Given the description of an element on the screen output the (x, y) to click on. 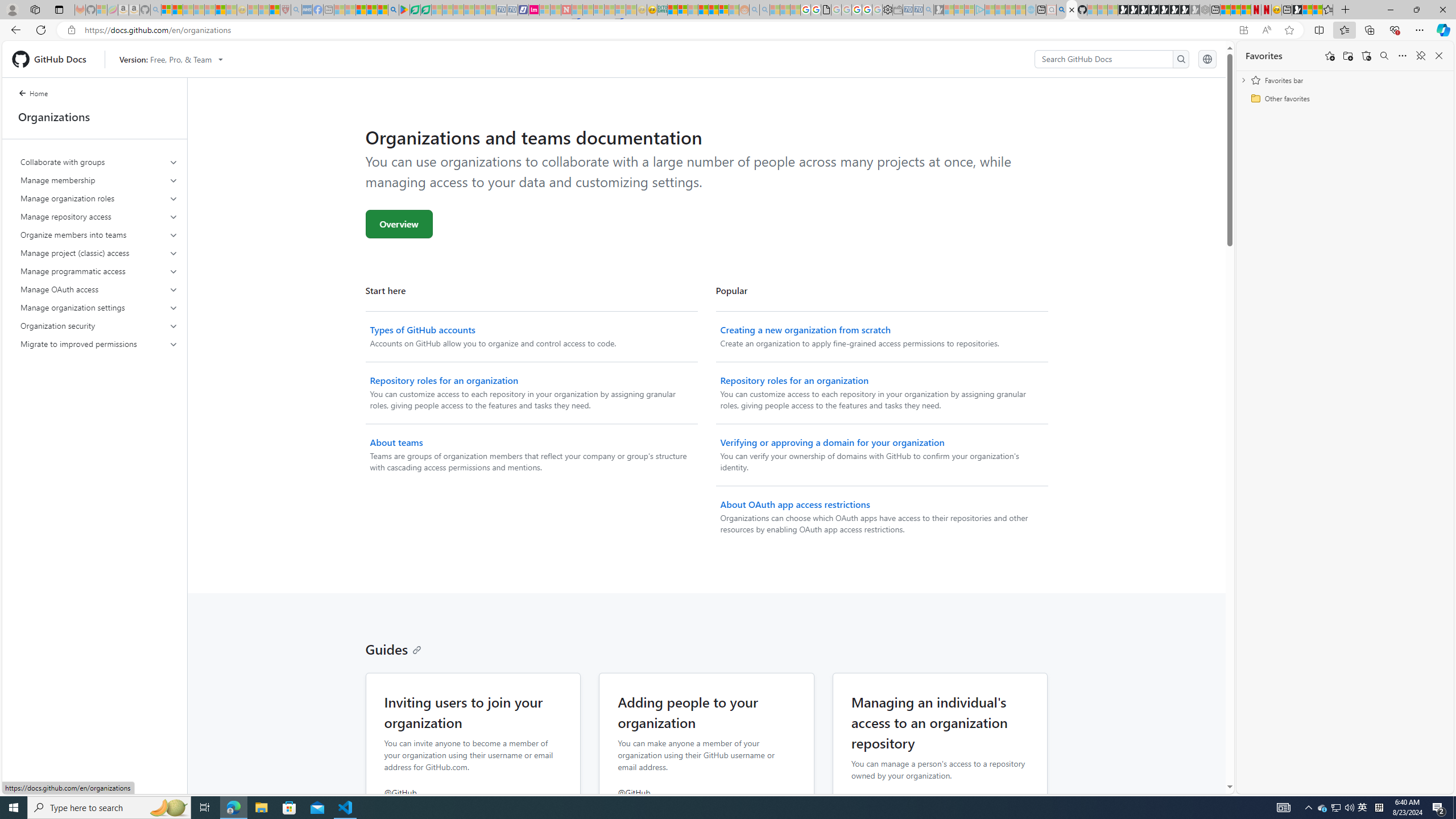
Restore deleted favorites (1366, 55)
